Given the description of an element on the screen output the (x, y) to click on. 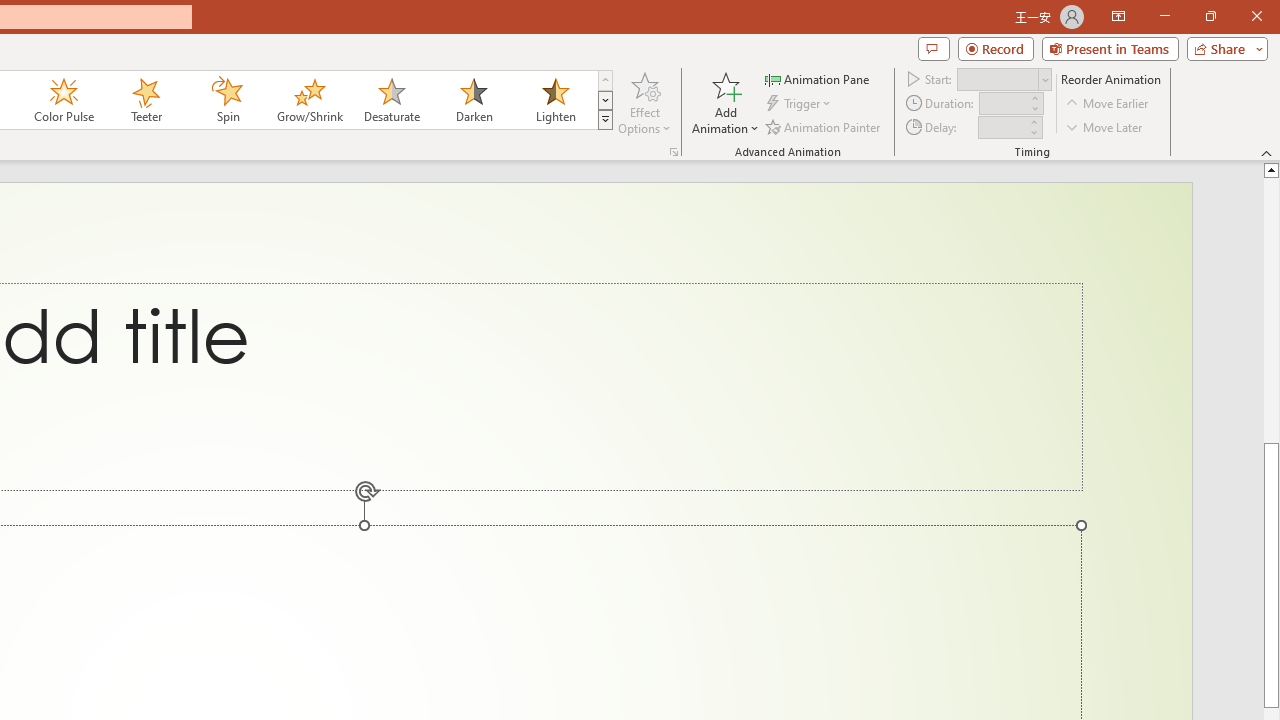
More Options... (673, 151)
Spin (227, 100)
Animation Delay (1002, 127)
Lighten (555, 100)
Trigger (799, 103)
Animation Styles (605, 120)
Add Animation (725, 102)
Move Earlier (1107, 103)
